Given the description of an element on the screen output the (x, y) to click on. 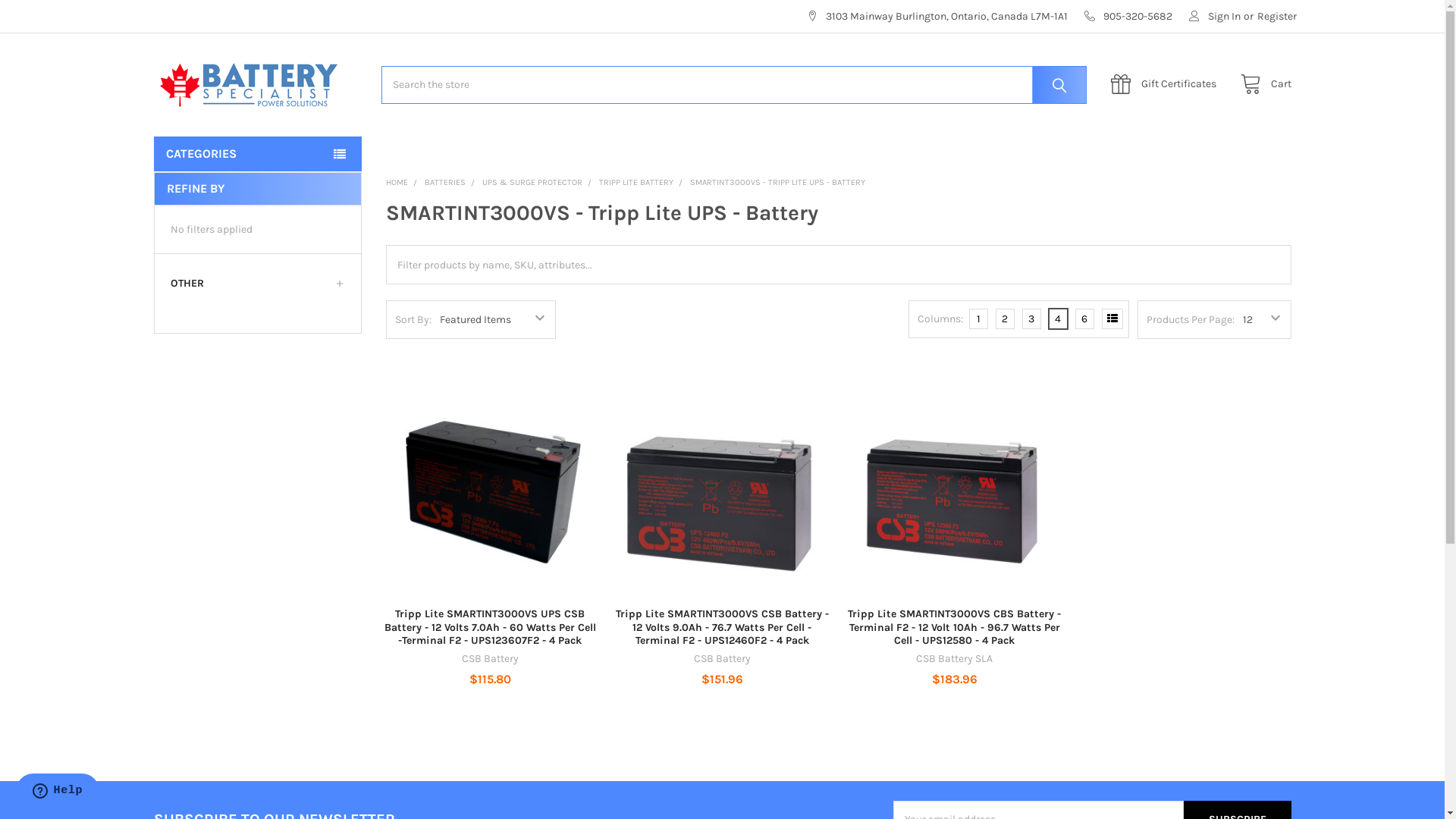
Battery Specialist Element type: hover (247, 84)
BATTERIES Element type: text (444, 182)
Bulk Order Element type: hover (1112, 318)
905-320-5682 Element type: text (1128, 16)
SMARTINT3000VS - TRIPP LITE UPS - BATTERY Element type: text (777, 182)
Sign In Element type: text (1214, 16)
HOME Element type: text (396, 182)
UPS & SURGE PROTECTOR Element type: text (532, 182)
Cart Element type: text (1261, 84)
CATEGORIES Element type: text (256, 153)
Opens a widget where you can chat to one of our agents Element type: hover (57, 792)
Gift Certificates Element type: text (1167, 84)
Register Element type: text (1276, 16)
TRIPP LITE BATTERY Element type: text (636, 182)
Search Element type: text (1055, 84)
